Given the description of an element on the screen output the (x, y) to click on. 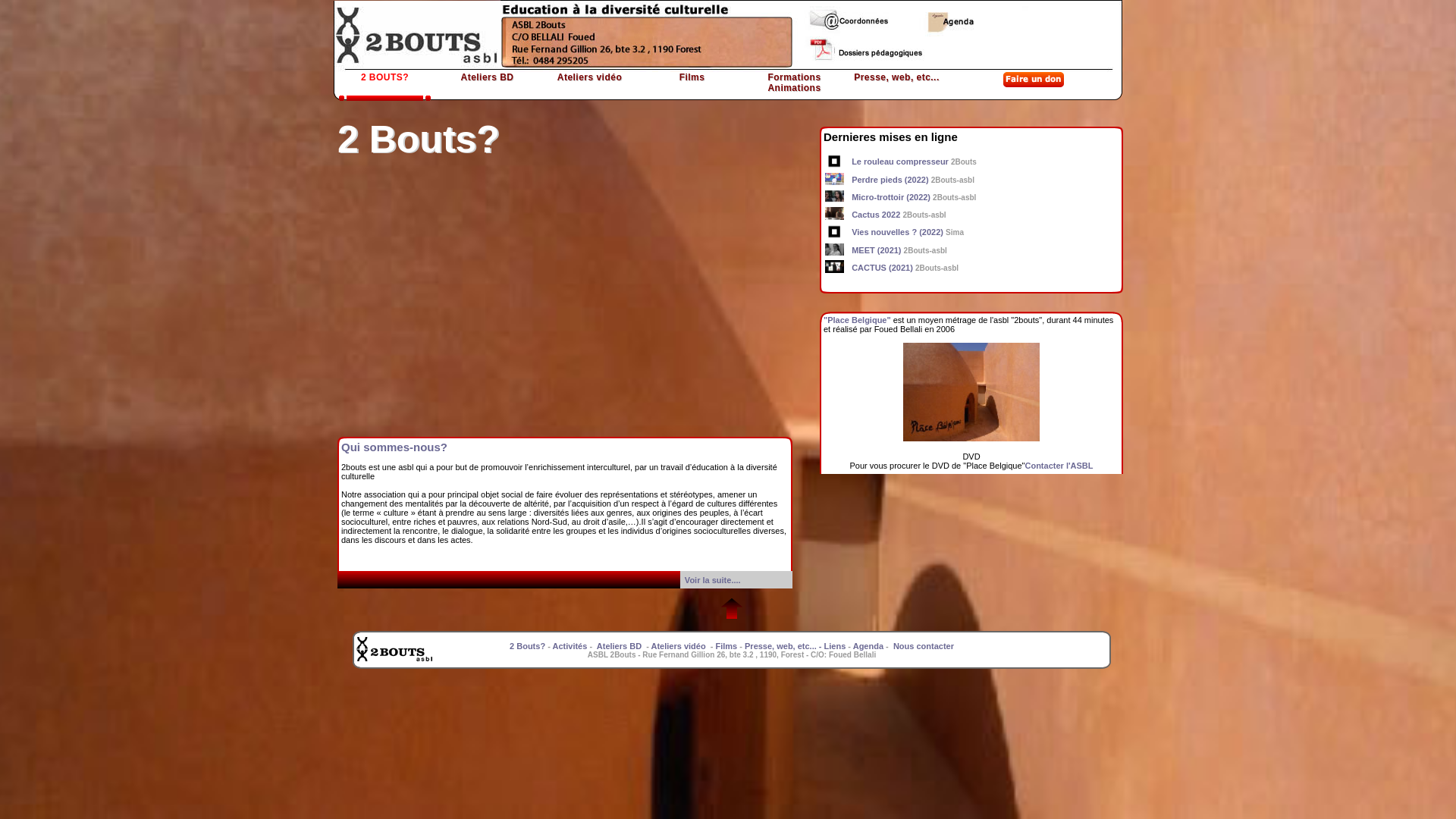
MEET (2021) Element type: text (875, 249)
"Place Belgique" Element type: text (857, 319)
Presse, web, etc... Element type: text (896, 94)
Ateliers BD Element type: text (618, 645)
Micro-trottoir (2022) Element type: text (890, 196)
Ateliers BD Element type: text (486, 94)
Contacter l'ASBL Element type: text (1058, 465)
2 BOUTS? Element type: text (384, 94)
Perdre pieds (2022) Element type: text (889, 179)
Voir la suite.... Element type: text (712, 579)
Films Element type: text (726, 645)
Qui sommes-nous? Element type: text (394, 446)
Agenda Element type: text (867, 645)
CACTUS (2021) Element type: text (882, 267)
Films Element type: text (691, 94)
Cactus 2022 Element type: text (875, 214)
2bouts page d'accueil asbl Element type: hover (811, 36)
2 Bouts? Element type: text (527, 645)
Vies nouvelles ? (2022) Element type: text (897, 231)
Le rouleau compresseur Element type: text (899, 161)
Presse, web, etc... - Element type: text (784, 645)
Formations
Animations Element type: text (793, 94)
Nous contacter Element type: text (923, 645)
Liens Element type: text (835, 645)
